Given the description of an element on the screen output the (x, y) to click on. 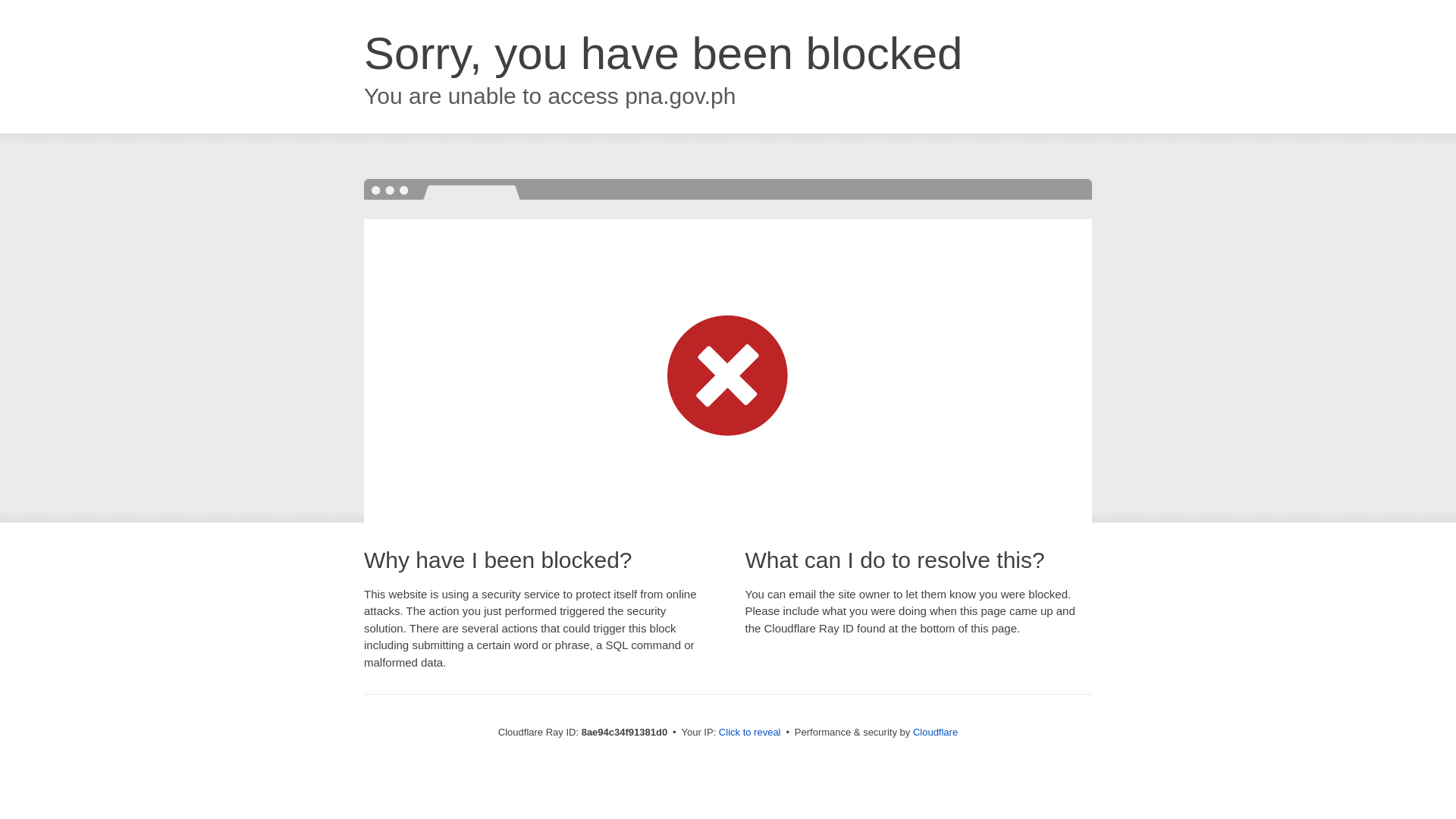
Cloudflare (935, 731)
Click to reveal (749, 732)
